Given the description of an element on the screen output the (x, y) to click on. 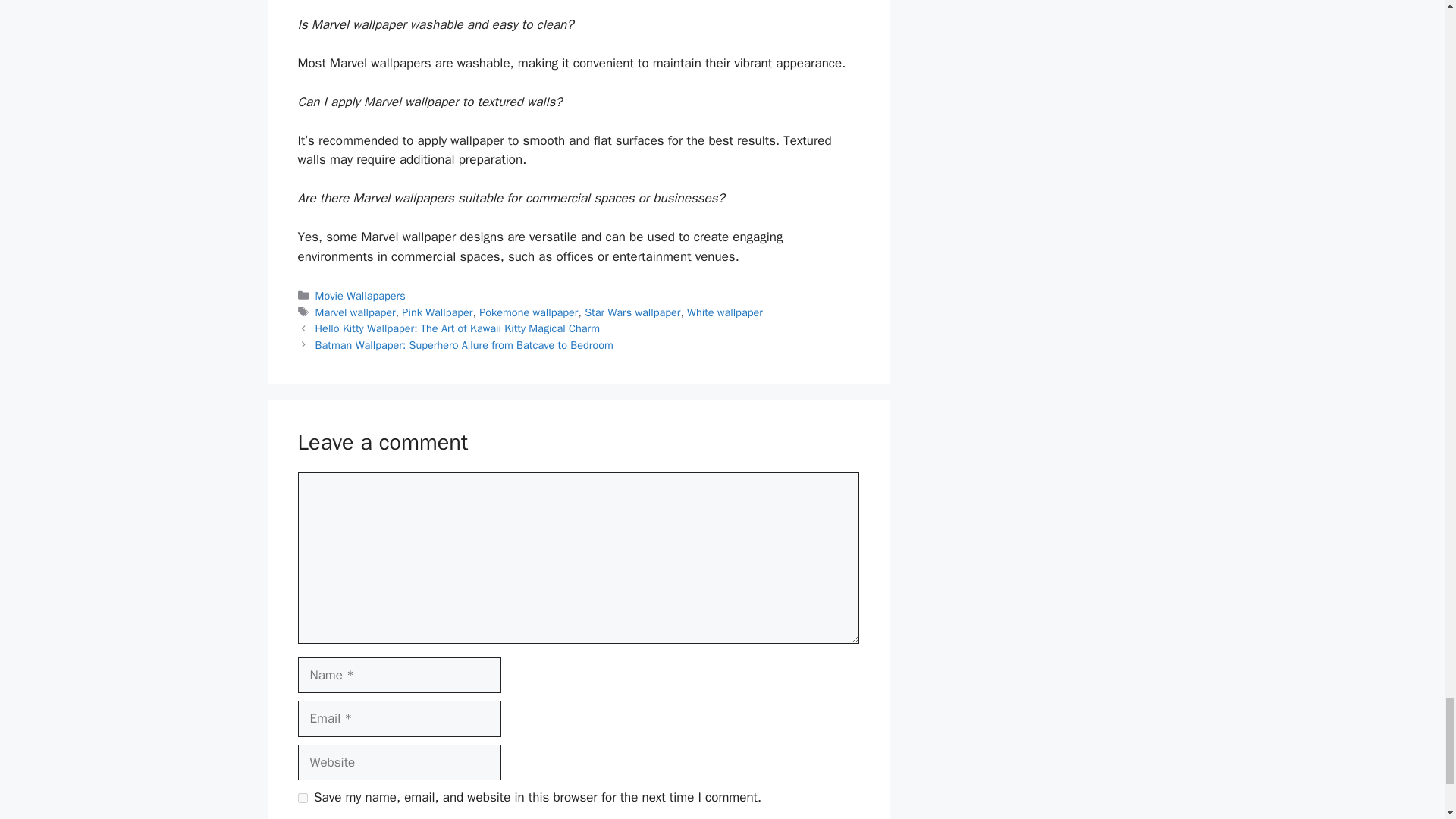
Pokemone wallpaper (528, 312)
yes (302, 798)
Marvel wallpaper (355, 312)
Movie Wallapapers (360, 295)
Batman Wallpaper: Superhero Allure from Batcave to Bedroom (463, 345)
White wallpaper (724, 312)
Pink Wallpaper (436, 312)
Star Wars wallpaper (632, 312)
Hello Kitty Wallpaper: The Art of Kawaii Kitty Magical Charm (457, 327)
